Given the description of an element on the screen output the (x, y) to click on. 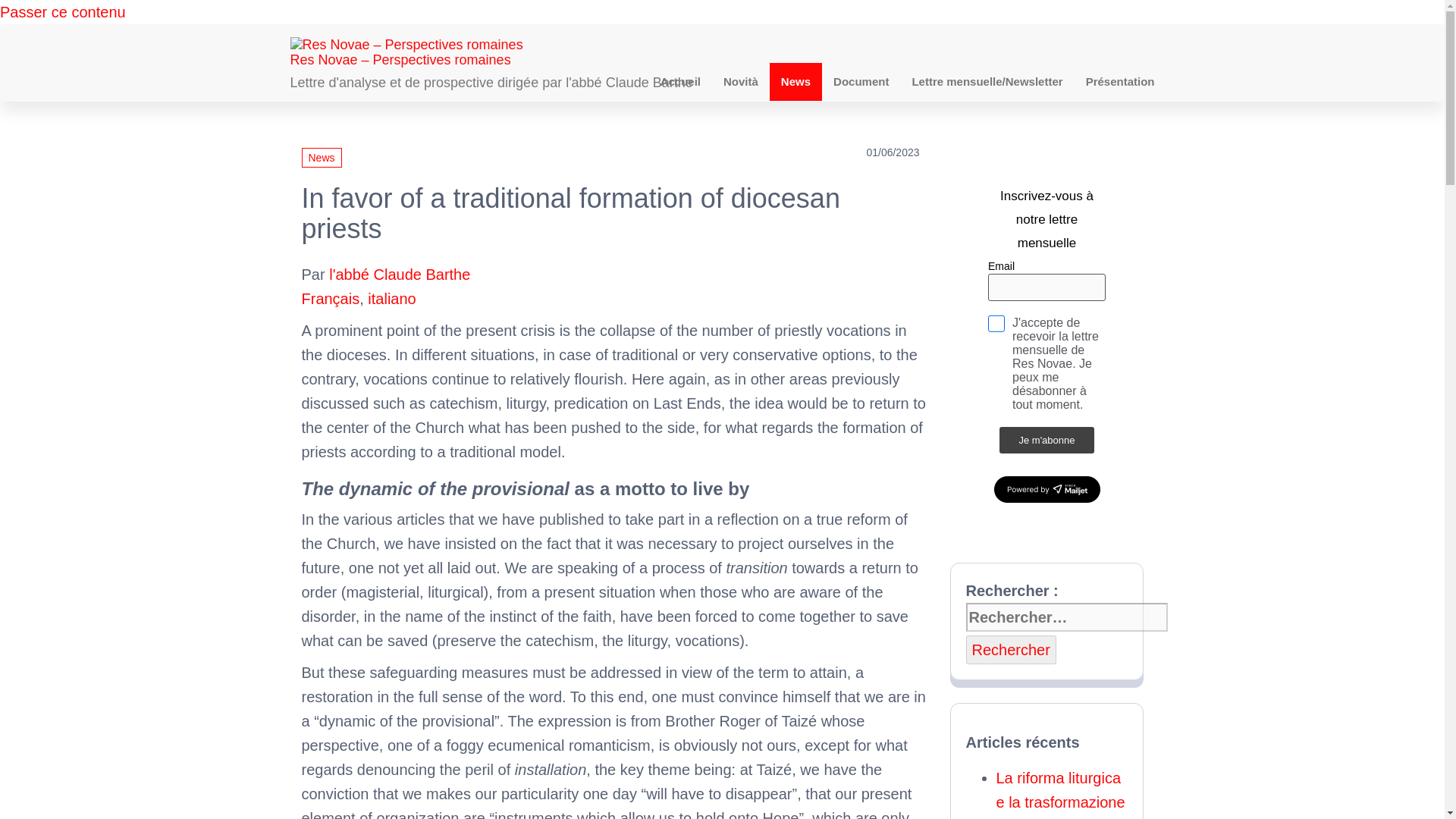
Rechercher (1011, 649)
Document (860, 81)
News (796, 81)
Accueil (680, 81)
italiano (391, 298)
Rechercher (1011, 649)
News (321, 157)
Rechercher (1011, 649)
Passer ce contenu (62, 12)
News (796, 81)
Accueil (680, 81)
Document (860, 81)
